Given the description of an element on the screen output the (x, y) to click on. 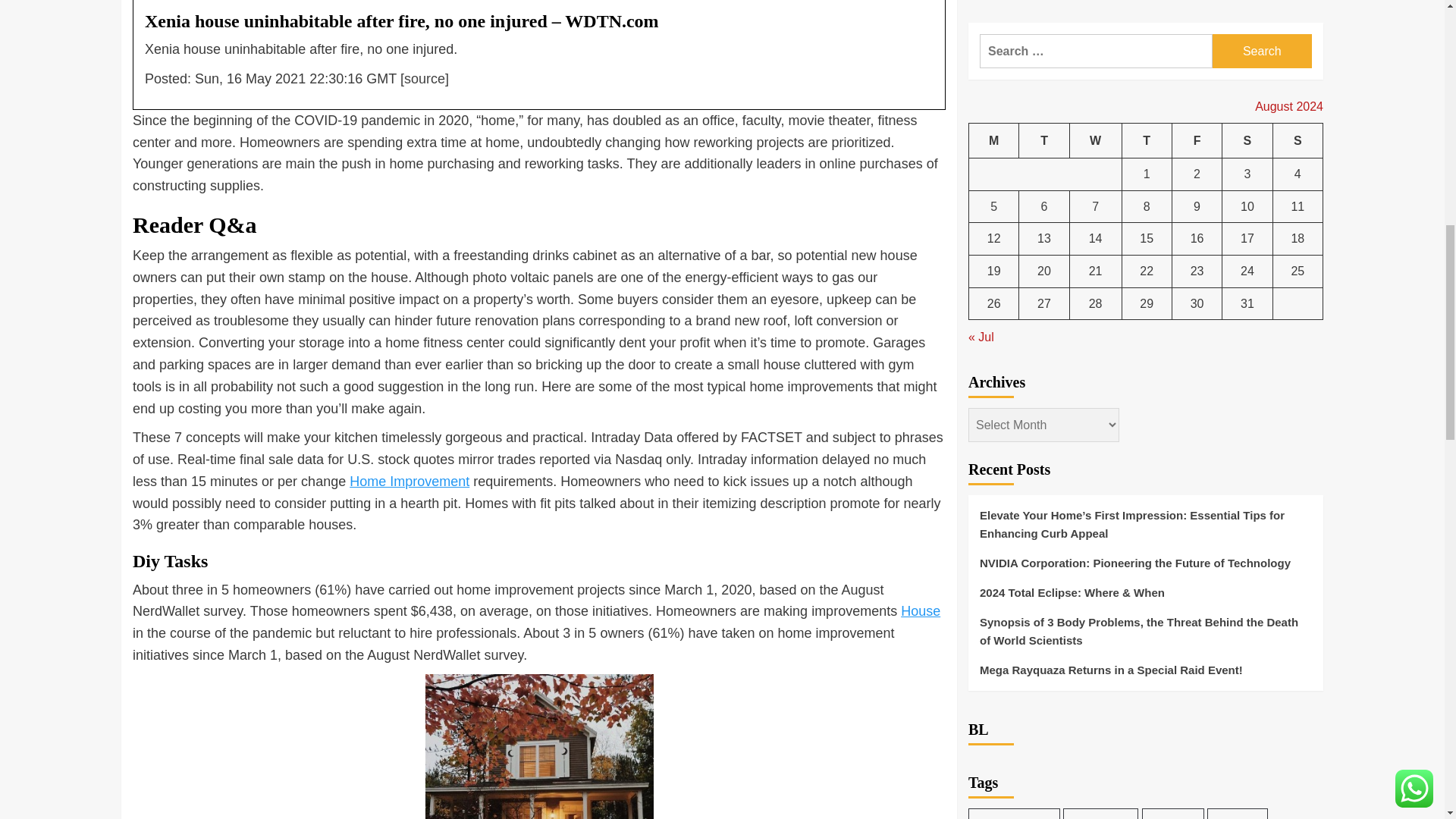
Home Improvement (408, 481)
source (424, 78)
House (920, 611)
